Given the description of an element on the screen output the (x, y) to click on. 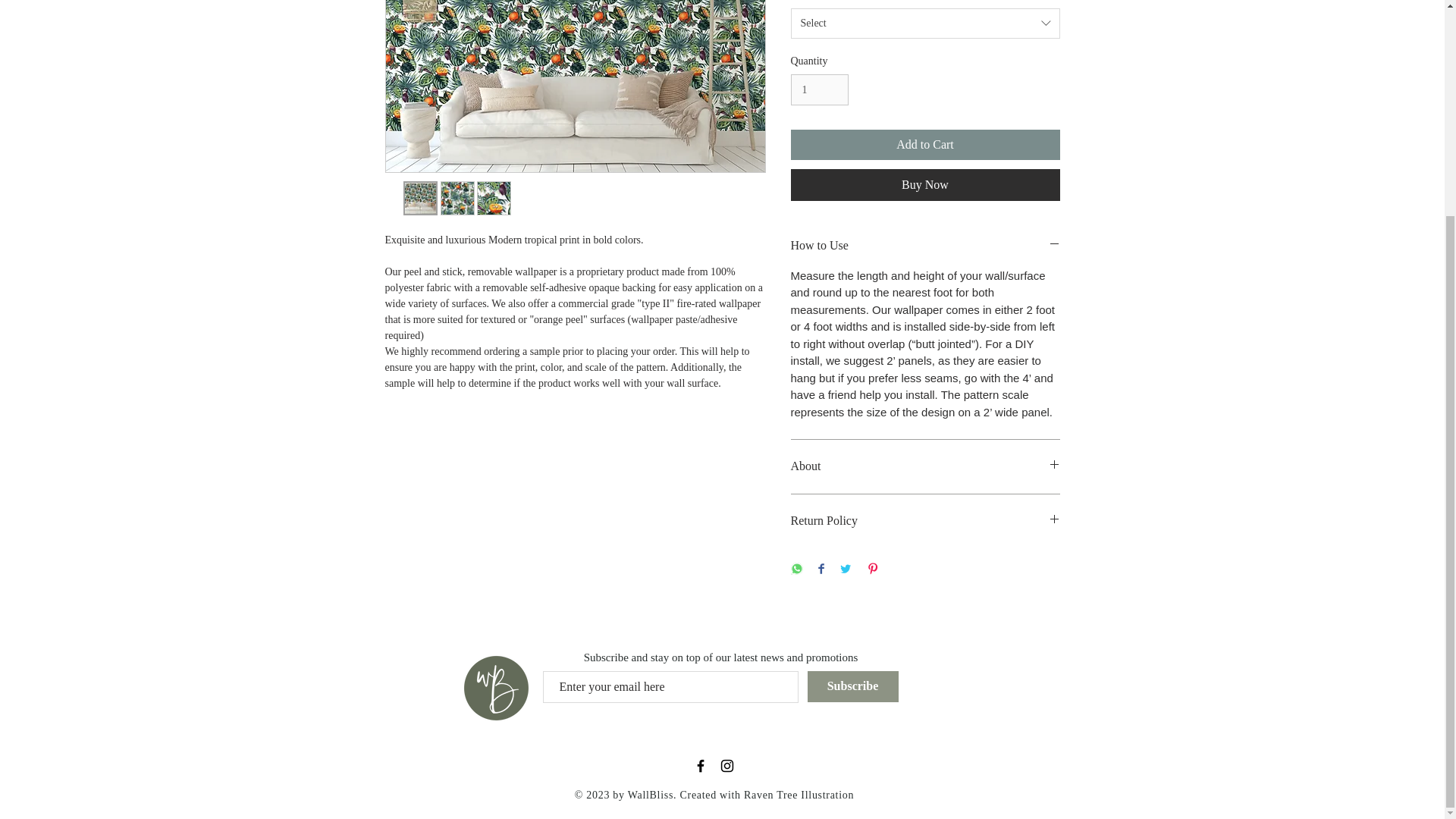
How to Use (924, 245)
Select (924, 23)
Return Policy (924, 520)
Buy Now (924, 184)
1 (818, 89)
Subscribe (852, 685)
About (924, 466)
Add to Cart (924, 144)
